Given the description of an element on the screen output the (x, y) to click on. 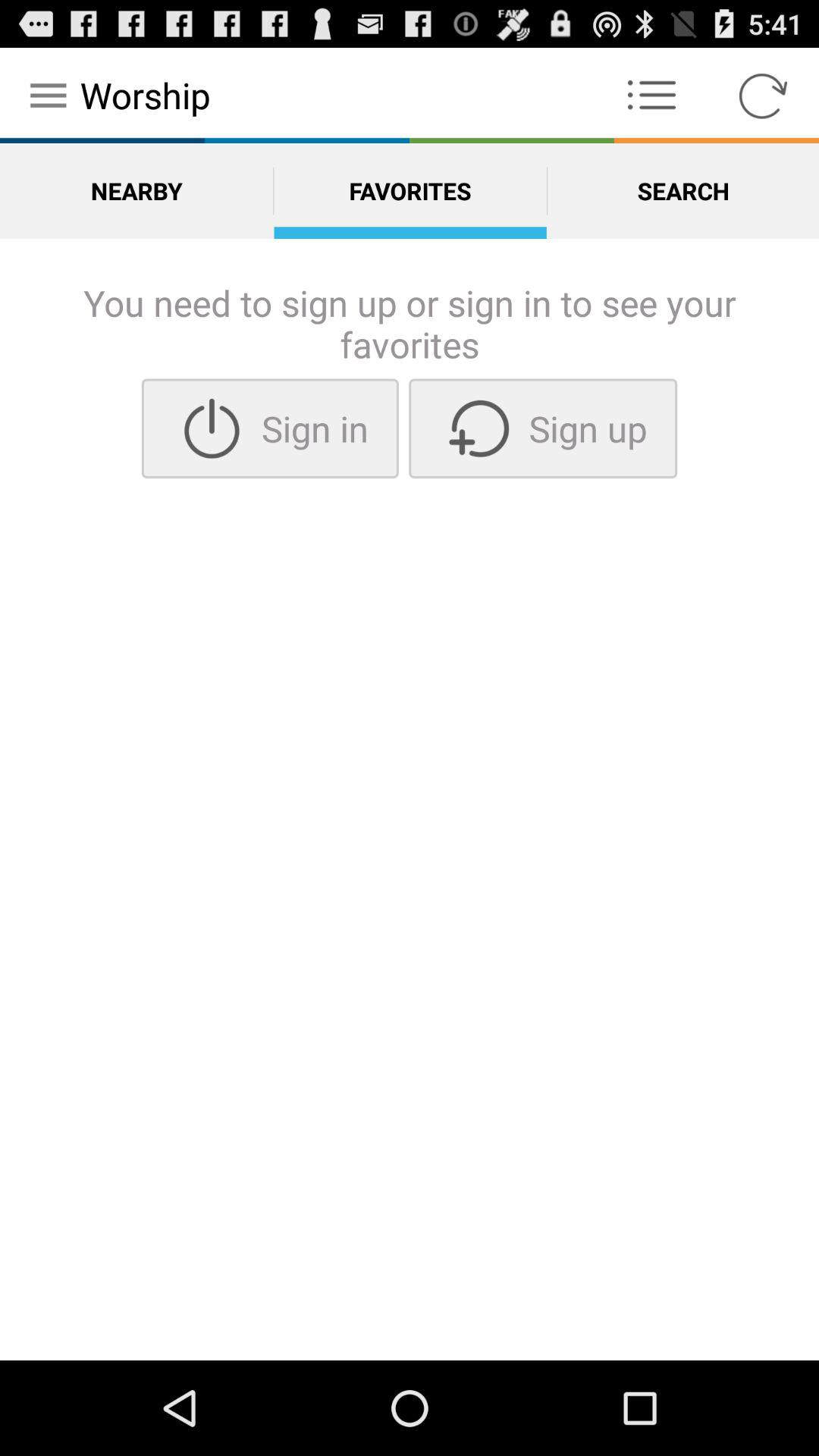
click the option search (683, 190)
click on refresh button (763, 95)
click on the button next to sign in (542, 428)
go to theree doted icon which is right side to text worship (651, 95)
click on the menu icon which is to the left side of the worship (48, 95)
